Given the description of an element on the screen output the (x, y) to click on. 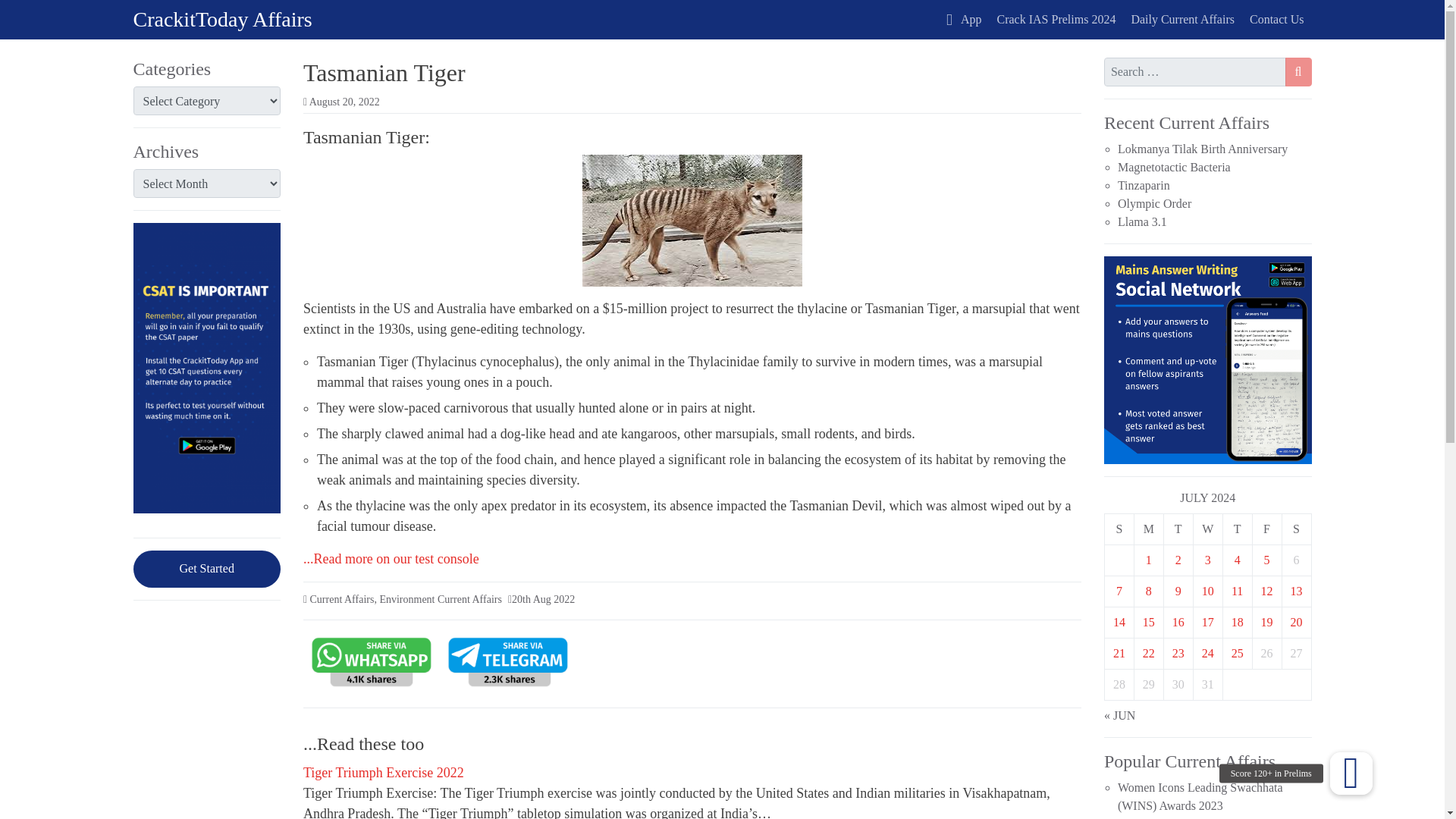
8 (1148, 590)
Sunday (1118, 528)
  App (963, 19)
Tiger Triumph Exercise 2022 (383, 773)
Monday (1148, 528)
Current Affairs (342, 599)
Tinzaparin (1144, 185)
Crack IAS Prelims 2024 (1057, 19)
20th Aug 2022 (543, 599)
Contact Us (1276, 19)
Contact Us (1276, 19)
Daily Current Affairs (1181, 19)
Wednesday (1207, 528)
CrackitToday Affairs (223, 19)
4 (1237, 559)
